Given the description of an element on the screen output the (x, y) to click on. 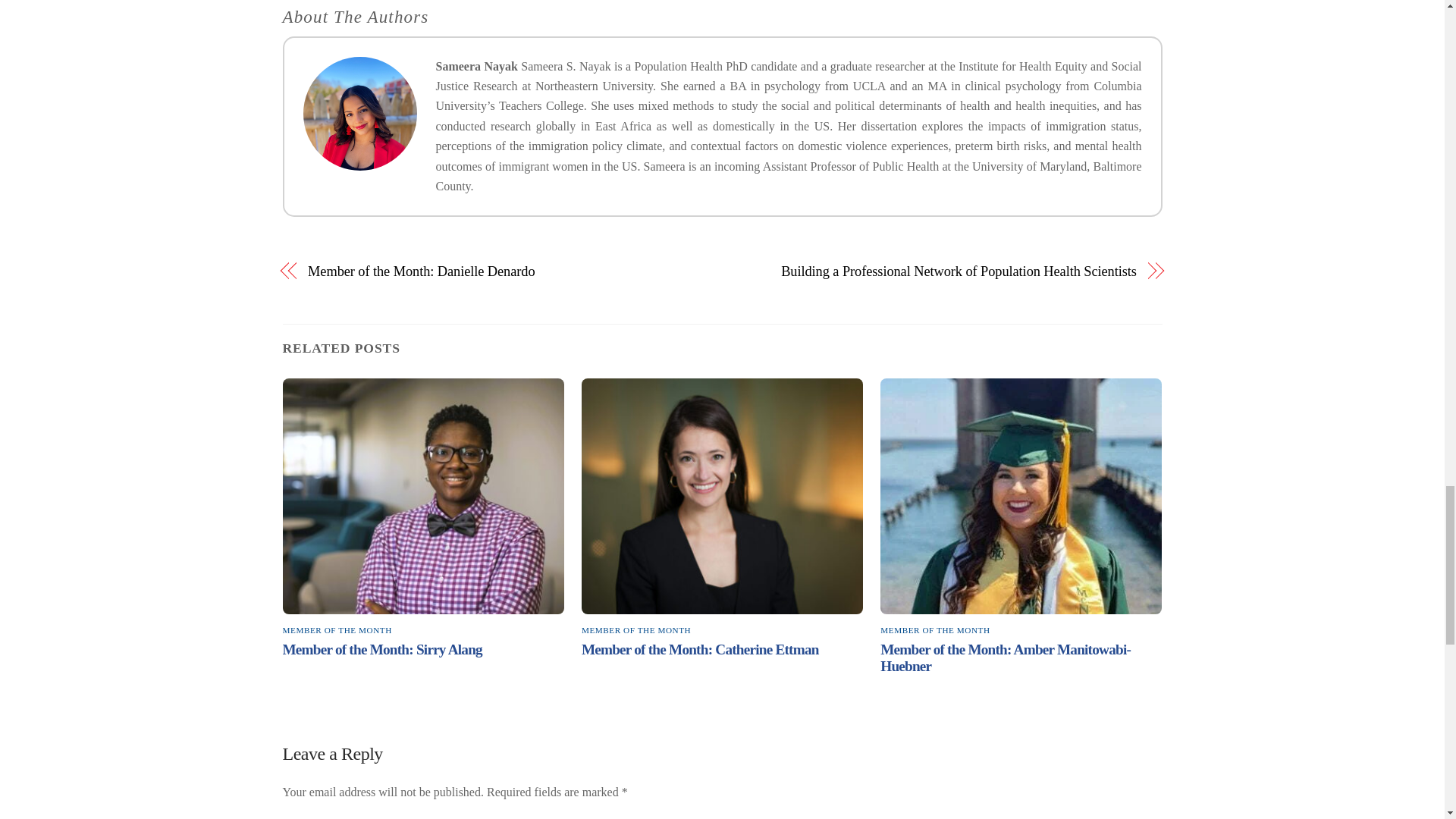
Alang-1-scaled (422, 496)
ambermom (1020, 496)
cettman (721, 496)
